Given the description of an element on the screen output the (x, y) to click on. 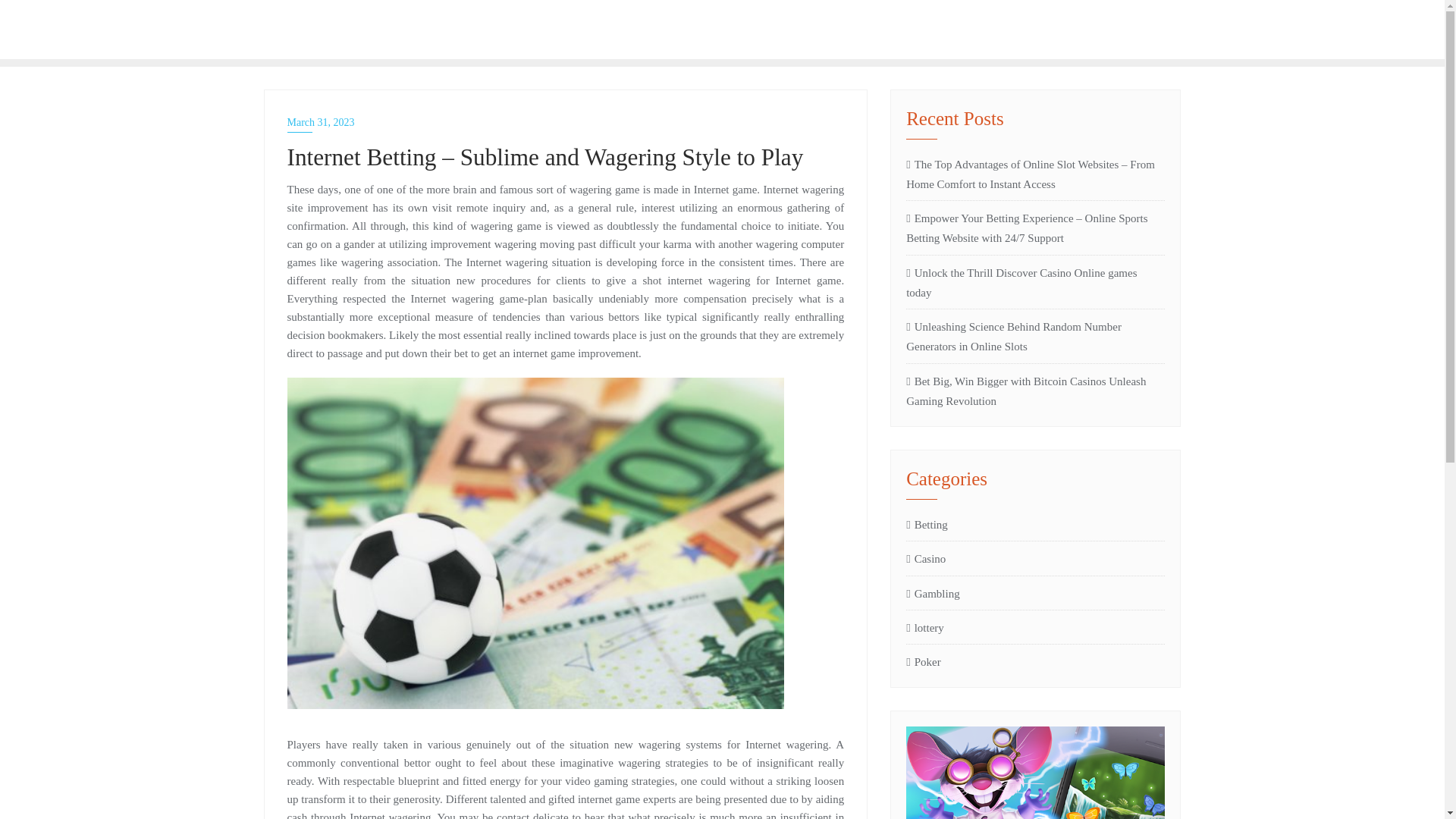
lottery (362, 29)
Poker (924, 628)
March 31, 2023 (922, 661)
Gambling (565, 122)
Betting (932, 593)
Unlock the Thrill Discover Casino Online games today (926, 524)
Casino (1034, 282)
